Given the description of an element on the screen output the (x, y) to click on. 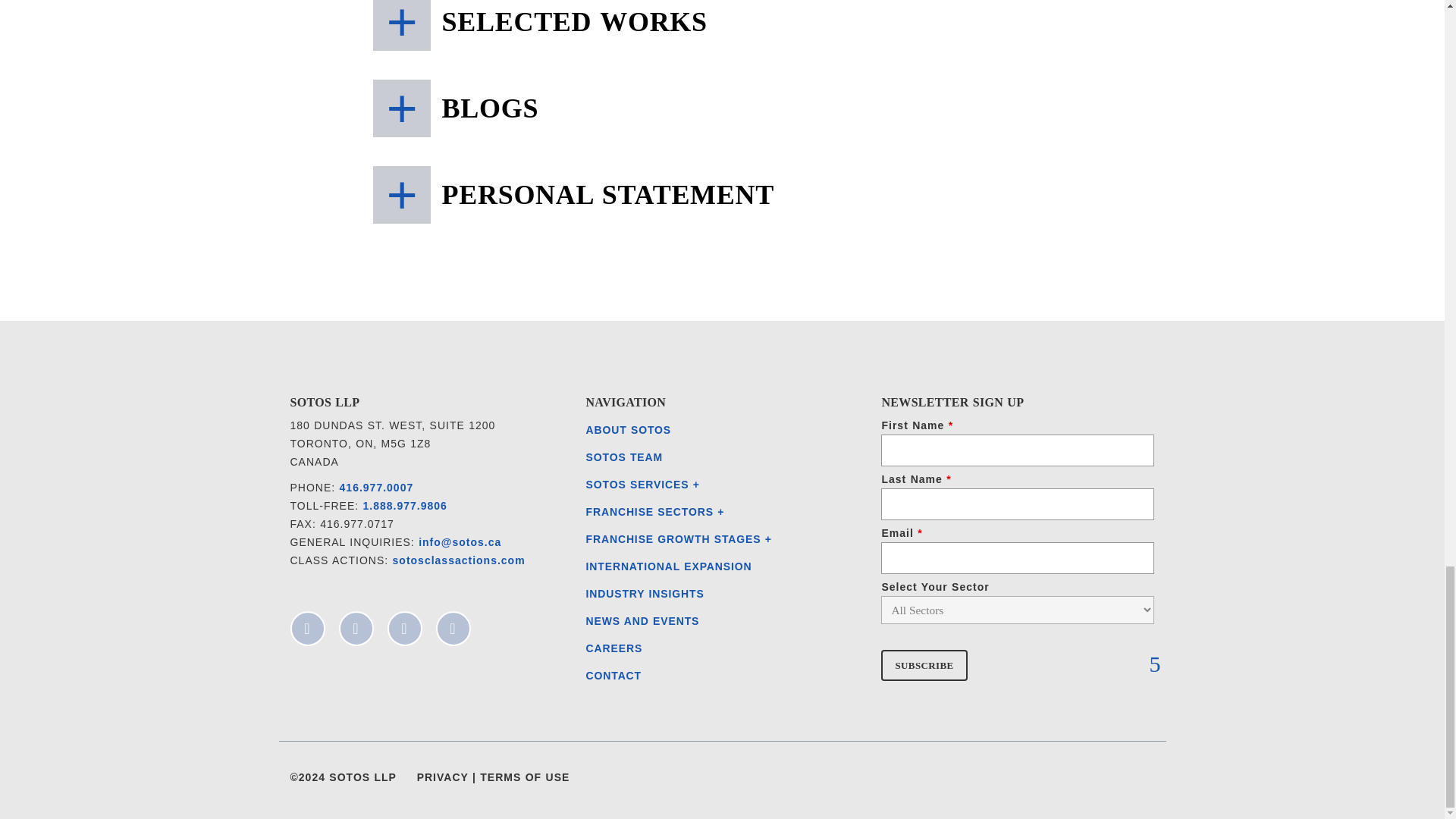
About Sotos (628, 429)
Sotos Team (623, 457)
Sotos Services (639, 484)
Subscribe (923, 665)
